Given the description of an element on the screen output the (x, y) to click on. 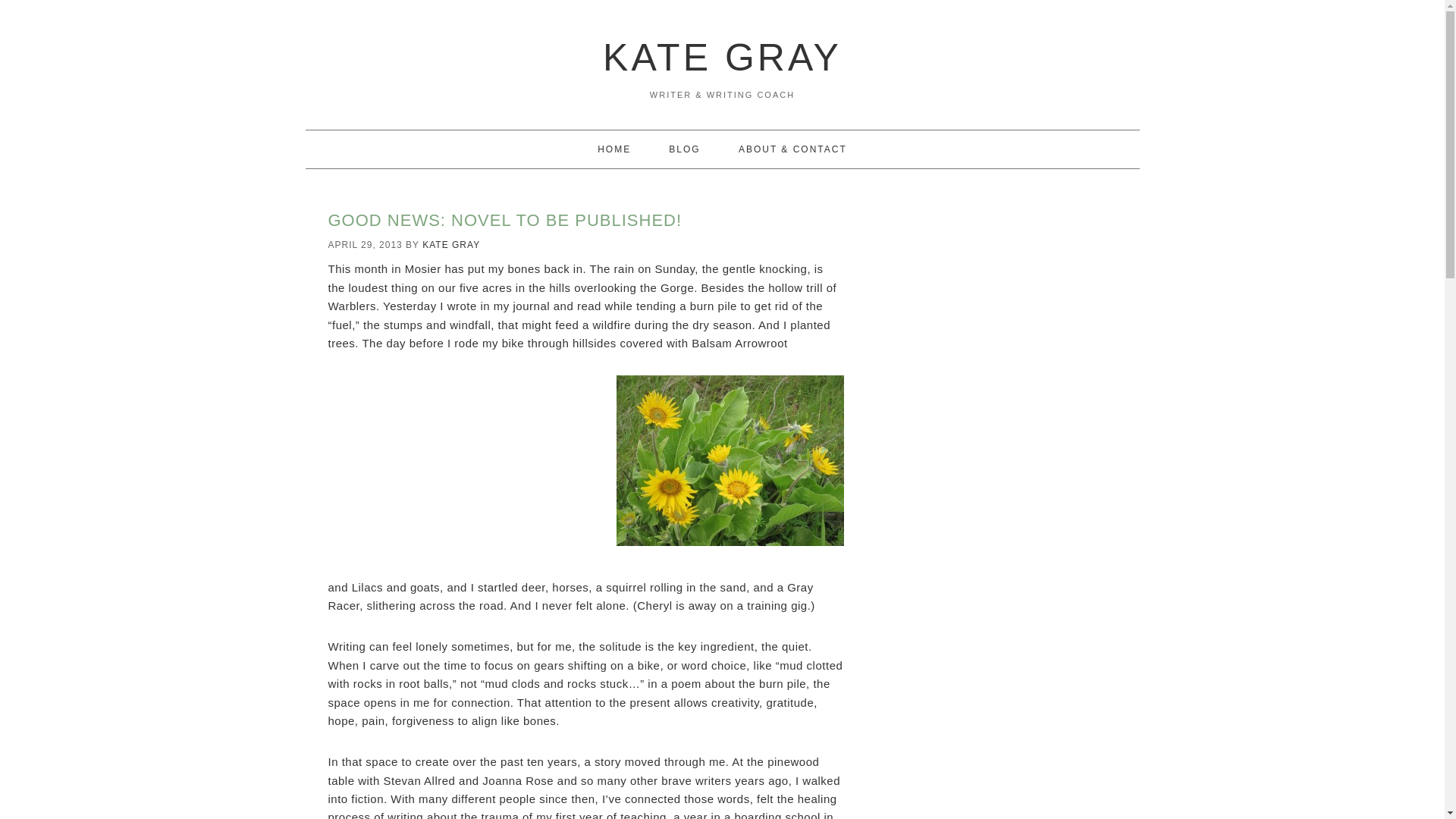
KATE GRAY (451, 244)
BLOG (684, 149)
GOOD NEWS: NOVEL TO BE PUBLISHED! (504, 220)
HOME (613, 149)
KATE GRAY (721, 57)
